Given the description of an element on the screen output the (x, y) to click on. 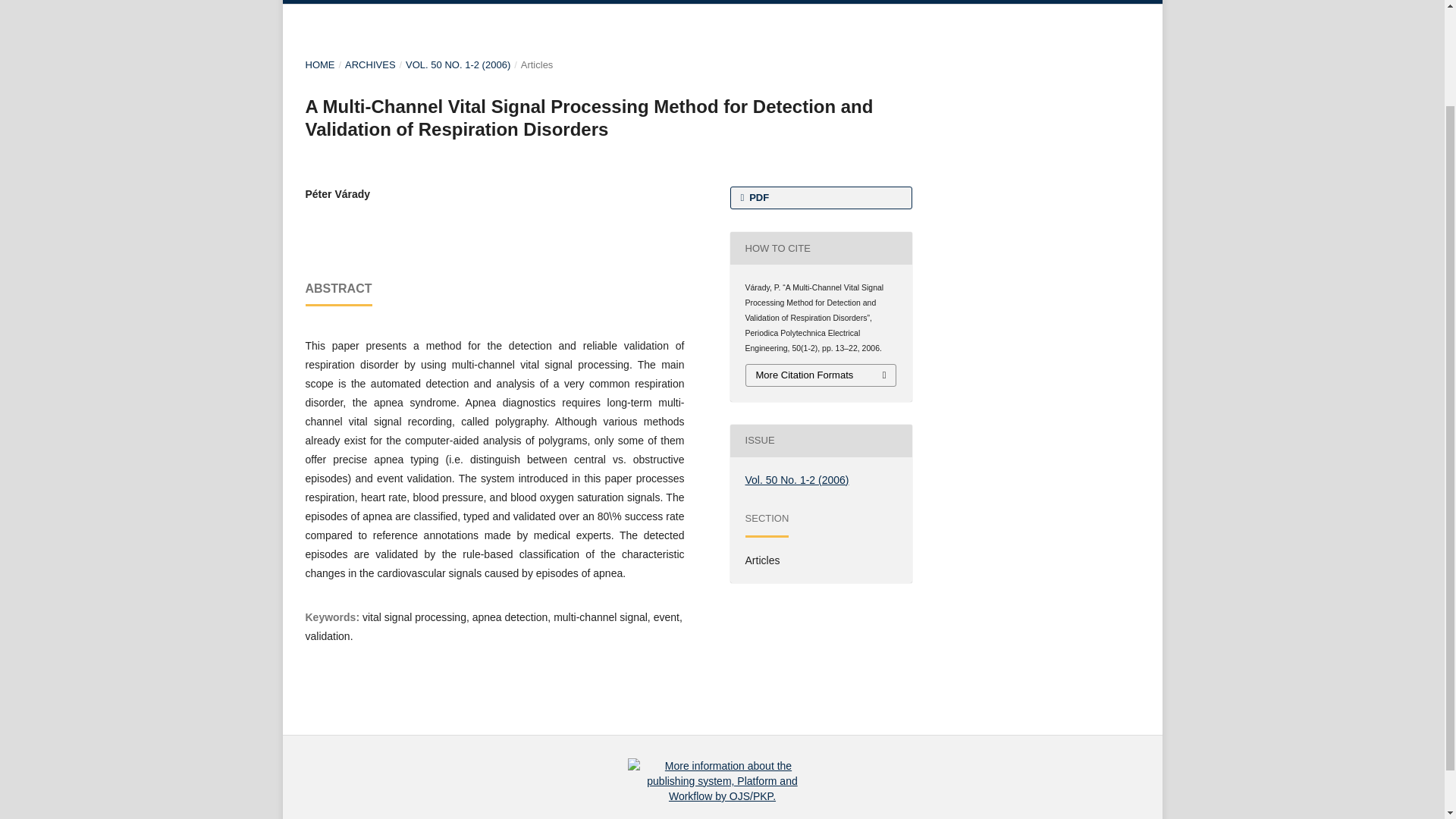
PDF (820, 197)
ARCHIVES (370, 64)
More Citation Formats (820, 374)
HOME (319, 64)
